Given the description of an element on the screen output the (x, y) to click on. 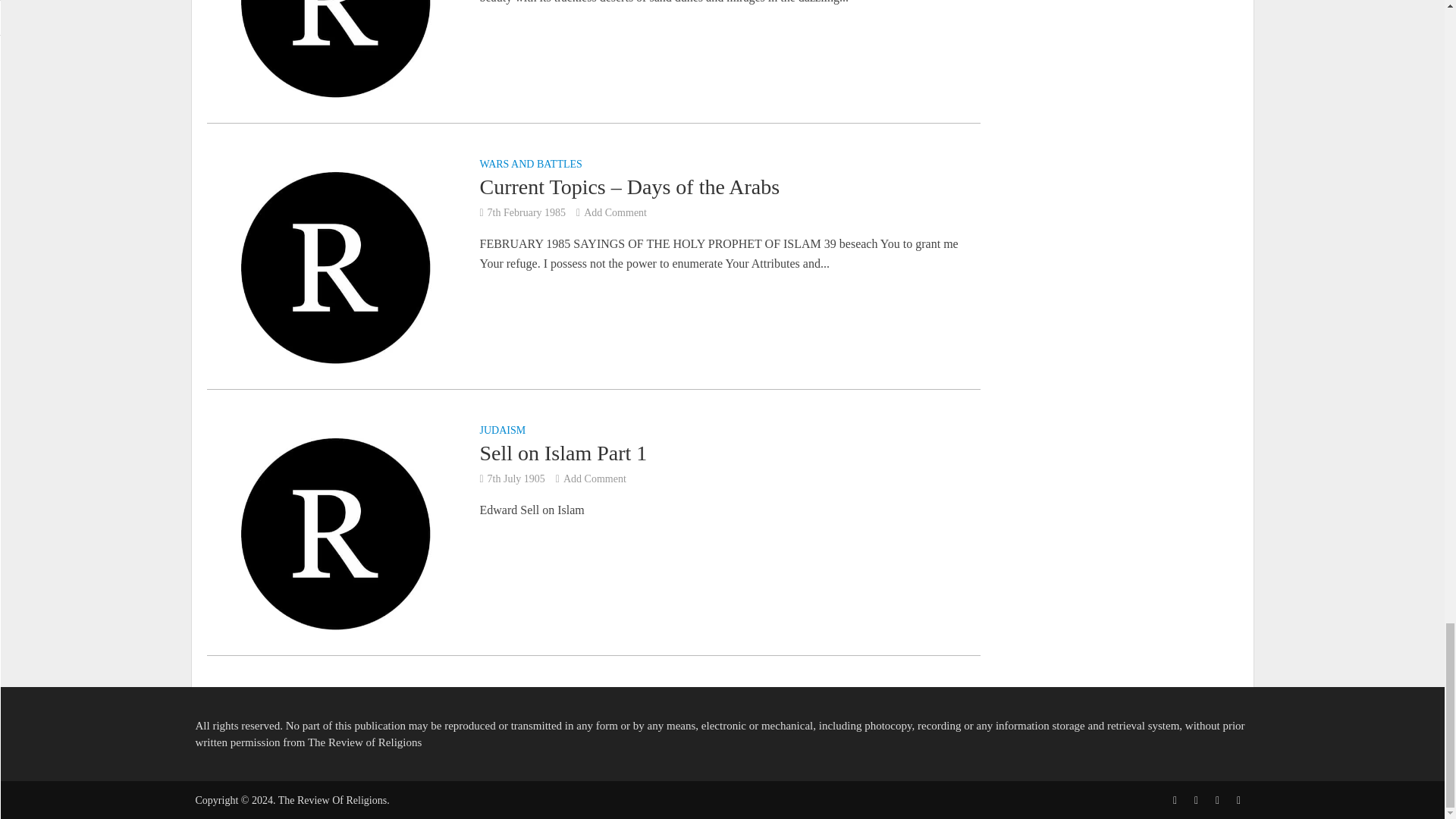
Sell on Islam Part 1 (334, 532)
6th Century Arabia (334, 3)
